Given the description of an element on the screen output the (x, y) to click on. 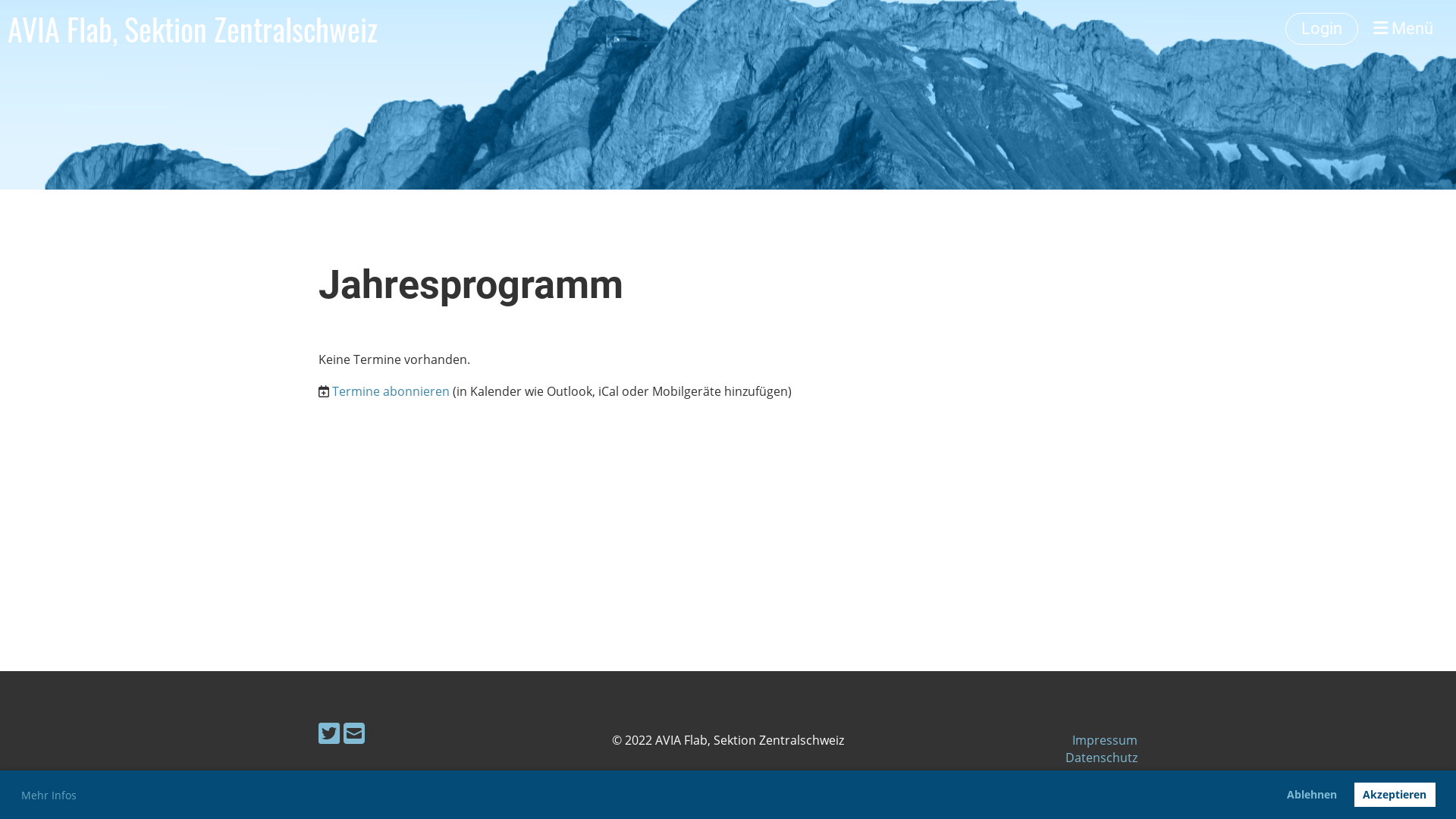
Mehr Infos Element type: text (48, 794)
Ablehnen Element type: text (1312, 794)
Datenschutz Element type: text (1101, 757)
Login Element type: text (1321, 28)
Termine abonnieren Element type: text (390, 390)
AVIA Flab, Sektion Zentralschweiz Element type: text (192, 28)
Akzeptieren Element type: text (1394, 794)
Impressum Element type: text (1104, 739)
